Given the description of an element on the screen output the (x, y) to click on. 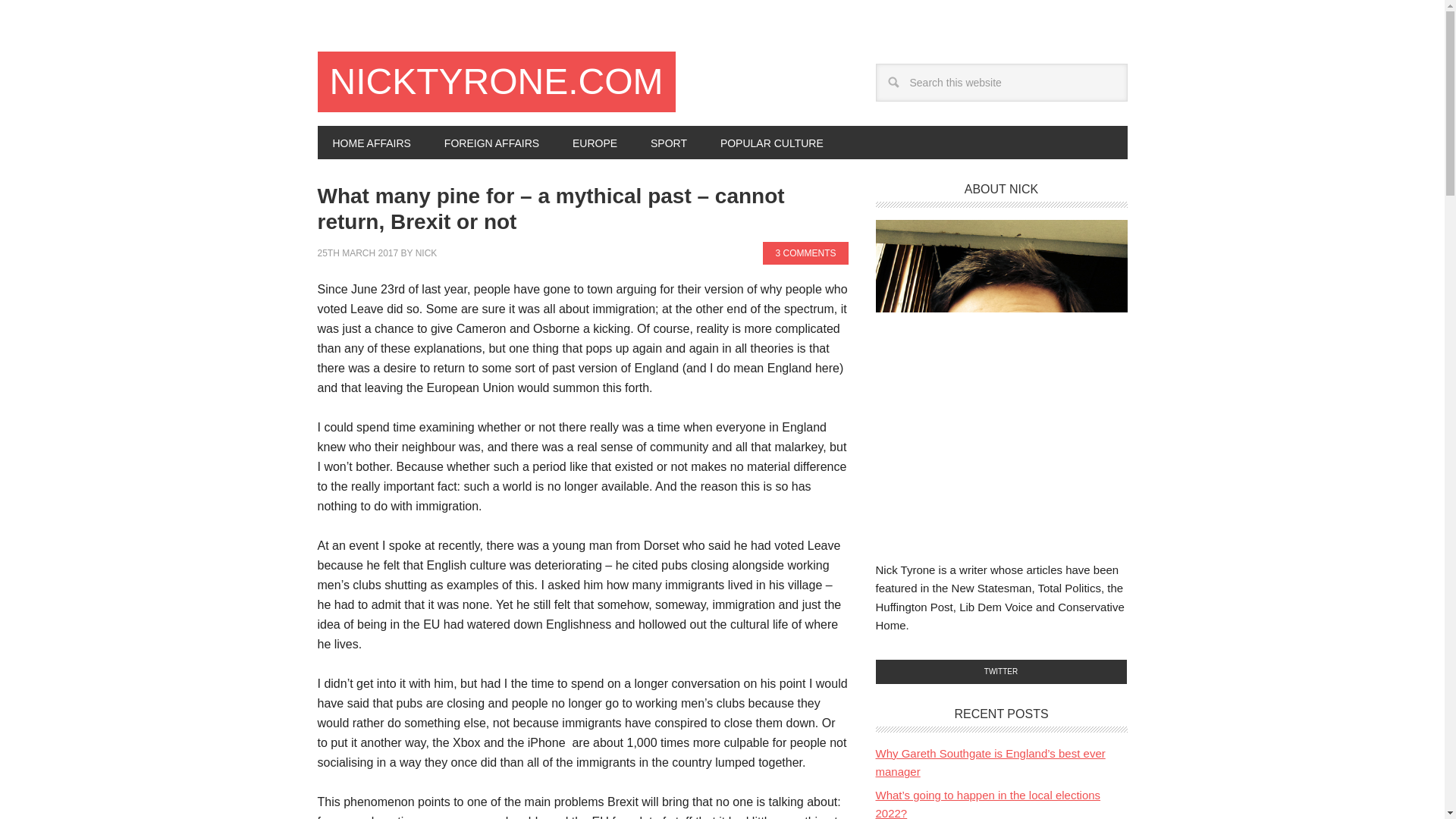
FOREIGN AFFAIRS (491, 142)
POPULAR CULTURE (771, 142)
SPORT (667, 142)
HOME AFFAIRS (371, 142)
TWITTER (1000, 671)
NICKTYRONE.COM (496, 81)
NICK (426, 253)
